Given the description of an element on the screen output the (x, y) to click on. 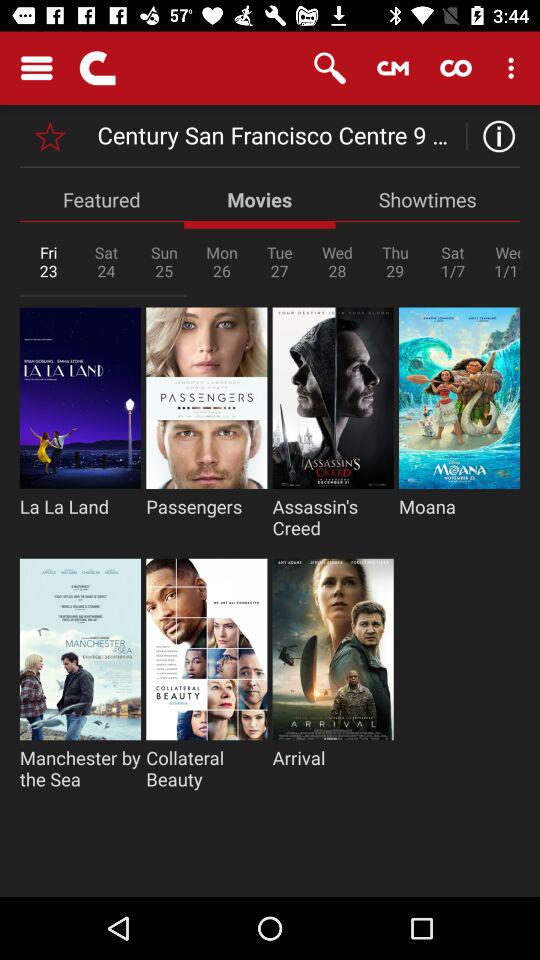
open information menu (493, 136)
